Given the description of an element on the screen output the (x, y) to click on. 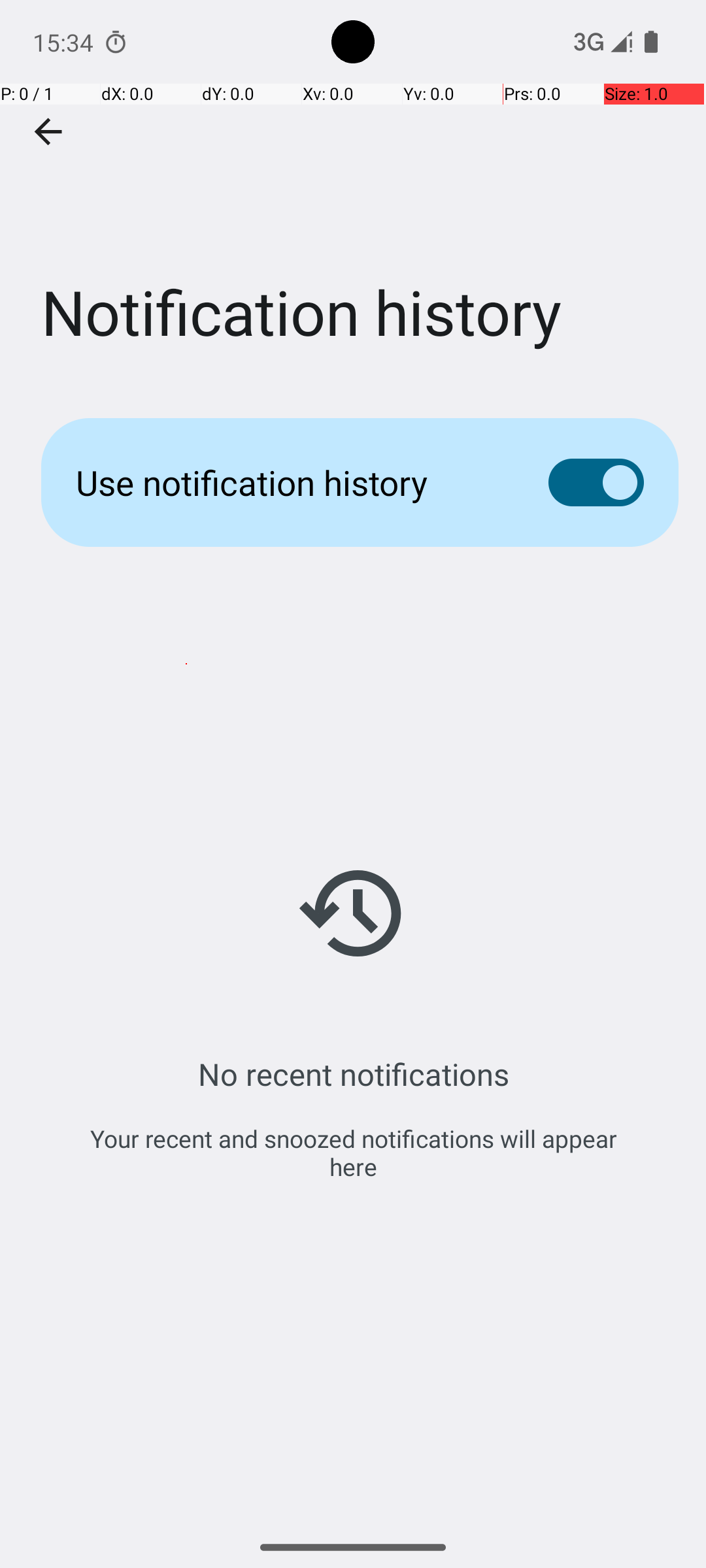
No recent notifications Element type: android.widget.TextView (352, 1073)
Your recent and snoozed notifications will appear here Element type: android.widget.TextView (352, 1152)
